Given the description of an element on the screen output the (x, y) to click on. 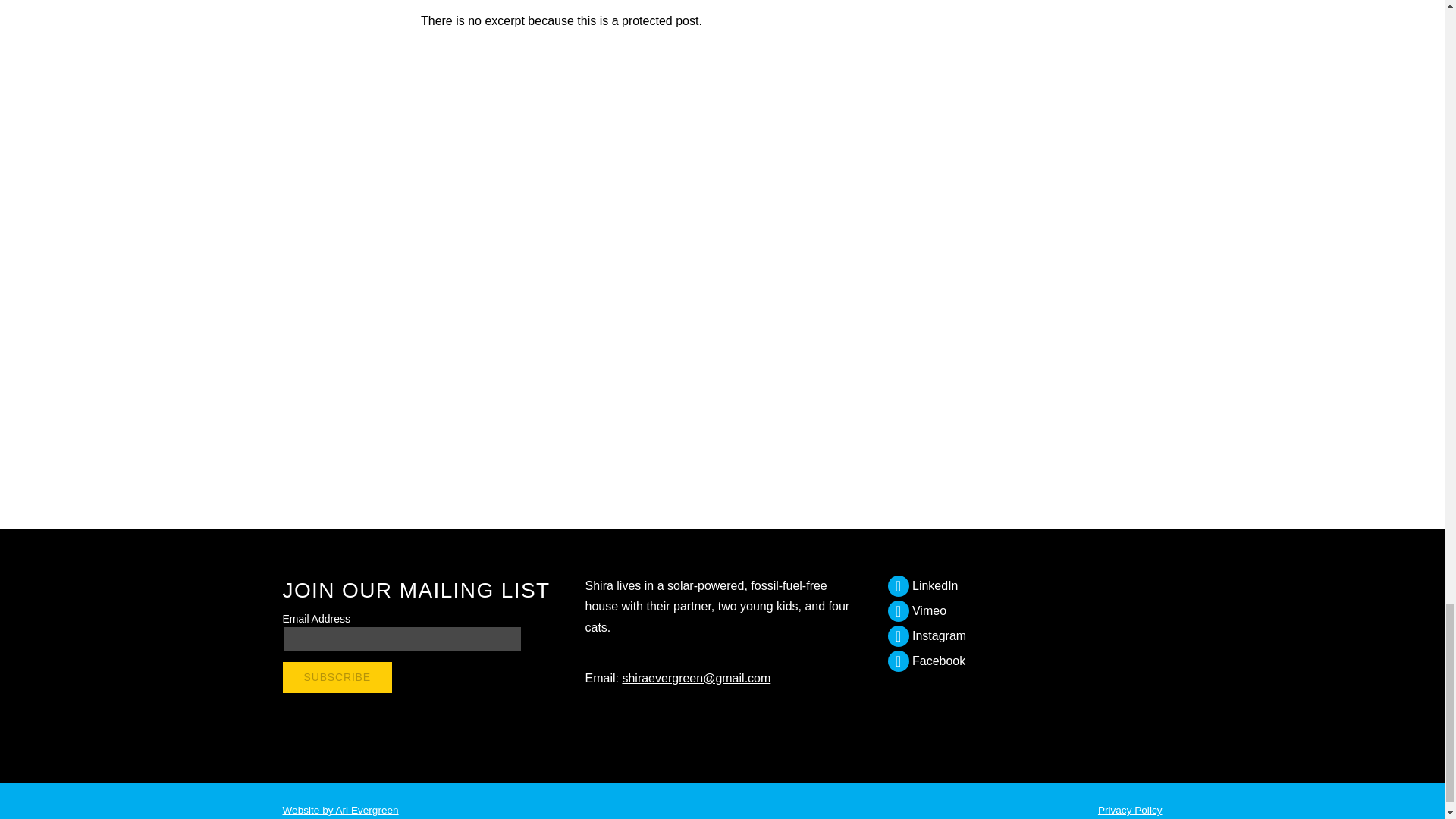
Subscribe (336, 676)
